Given the description of an element on the screen output the (x, y) to click on. 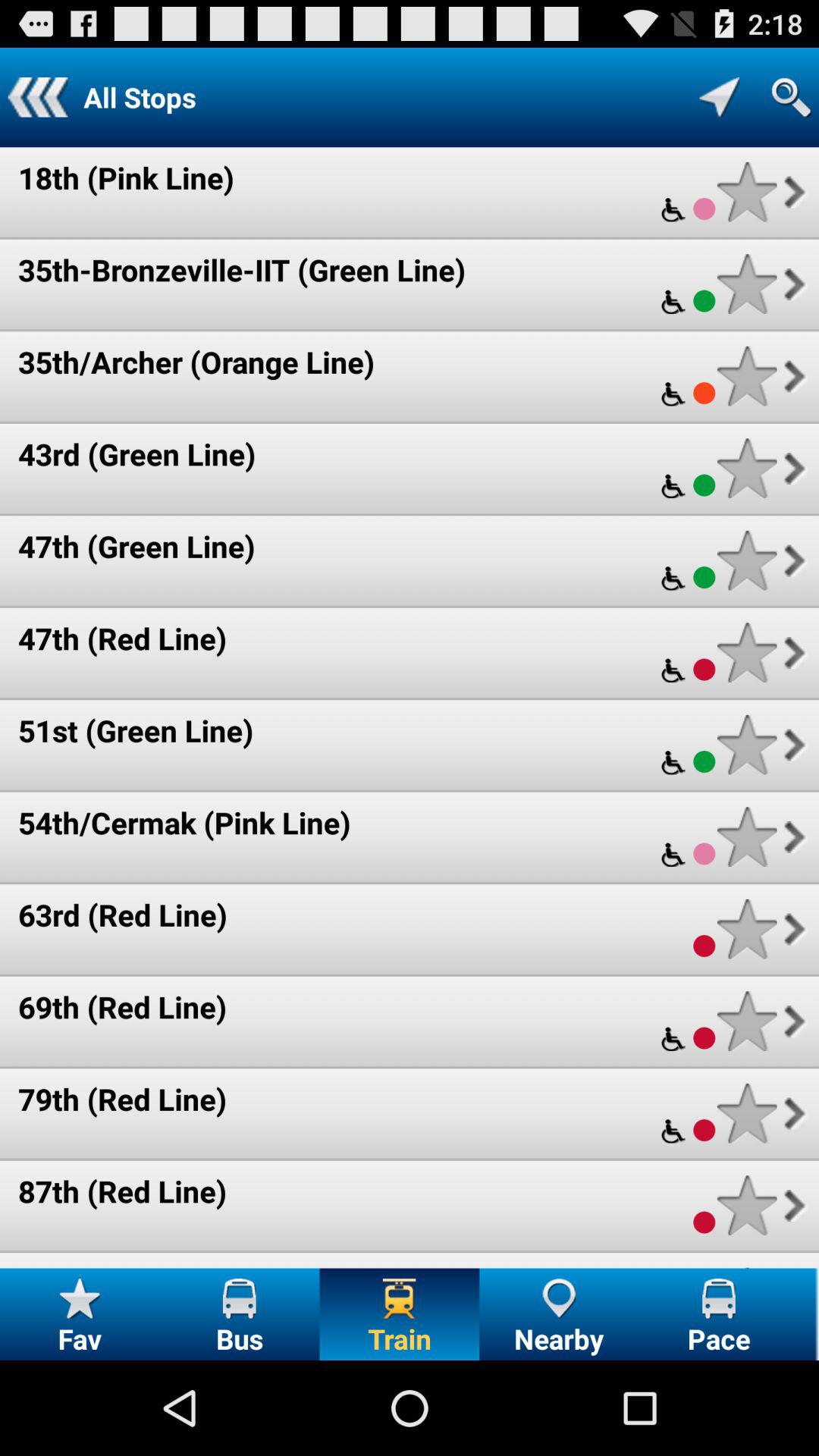
add favorite (746, 376)
